Given the description of an element on the screen output the (x, y) to click on. 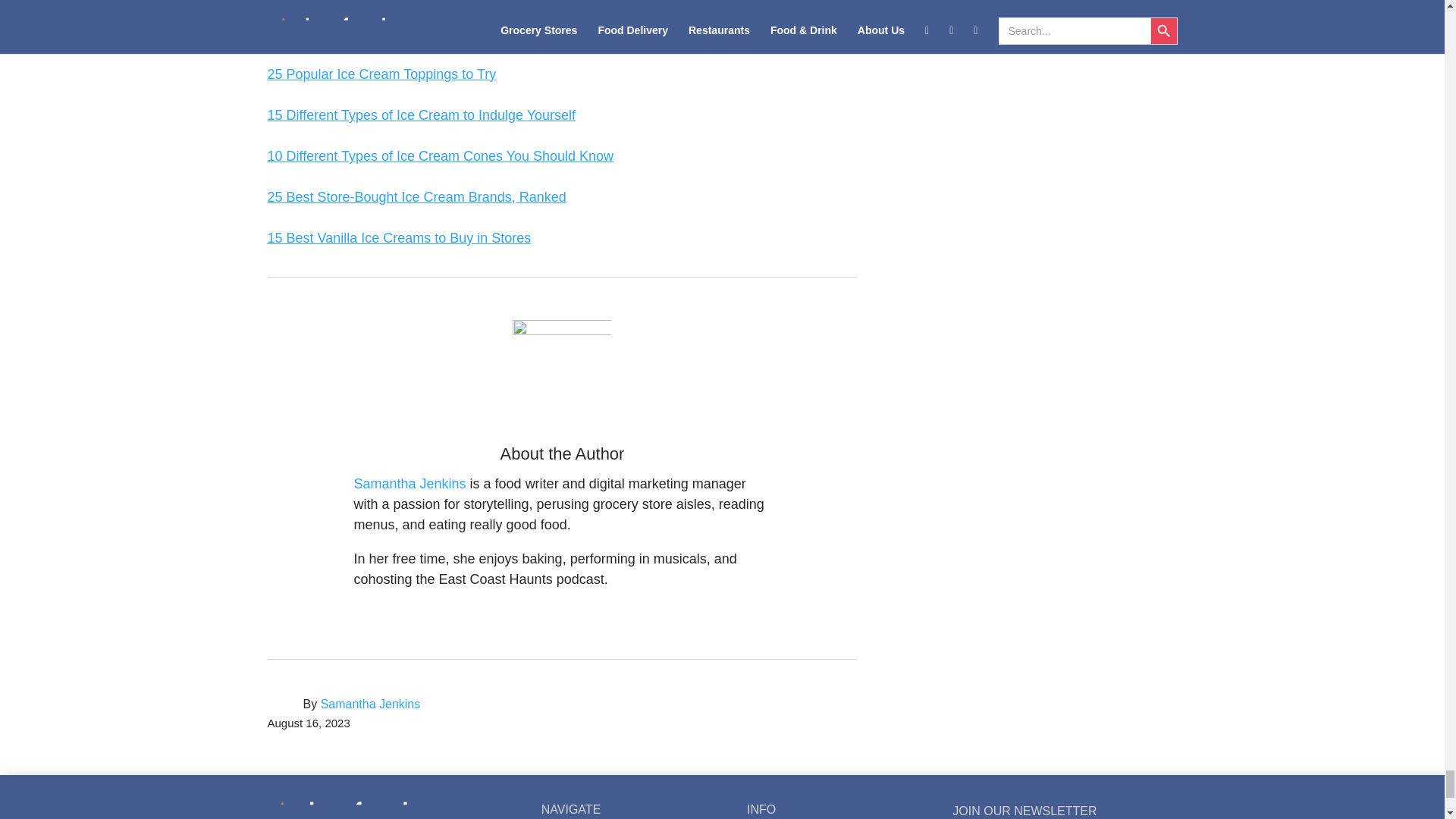
15 Best Vanilla Ice Creams to Buy in Stores (398, 237)
10 Different Types of Ice Cream Cones You Should Know (439, 155)
25 Best Store-Bought Ice Cream Brands, Ranked (416, 196)
shopfood-Logo-Final-PNG (367, 808)
Samantha Jenkins (370, 703)
Samantha Jenkins (409, 483)
15 Different Types of Ice Cream to Indulge Yourself (420, 114)
25 Popular Ice Cream Toppings to Try (381, 73)
